Given the description of an element on the screen output the (x, y) to click on. 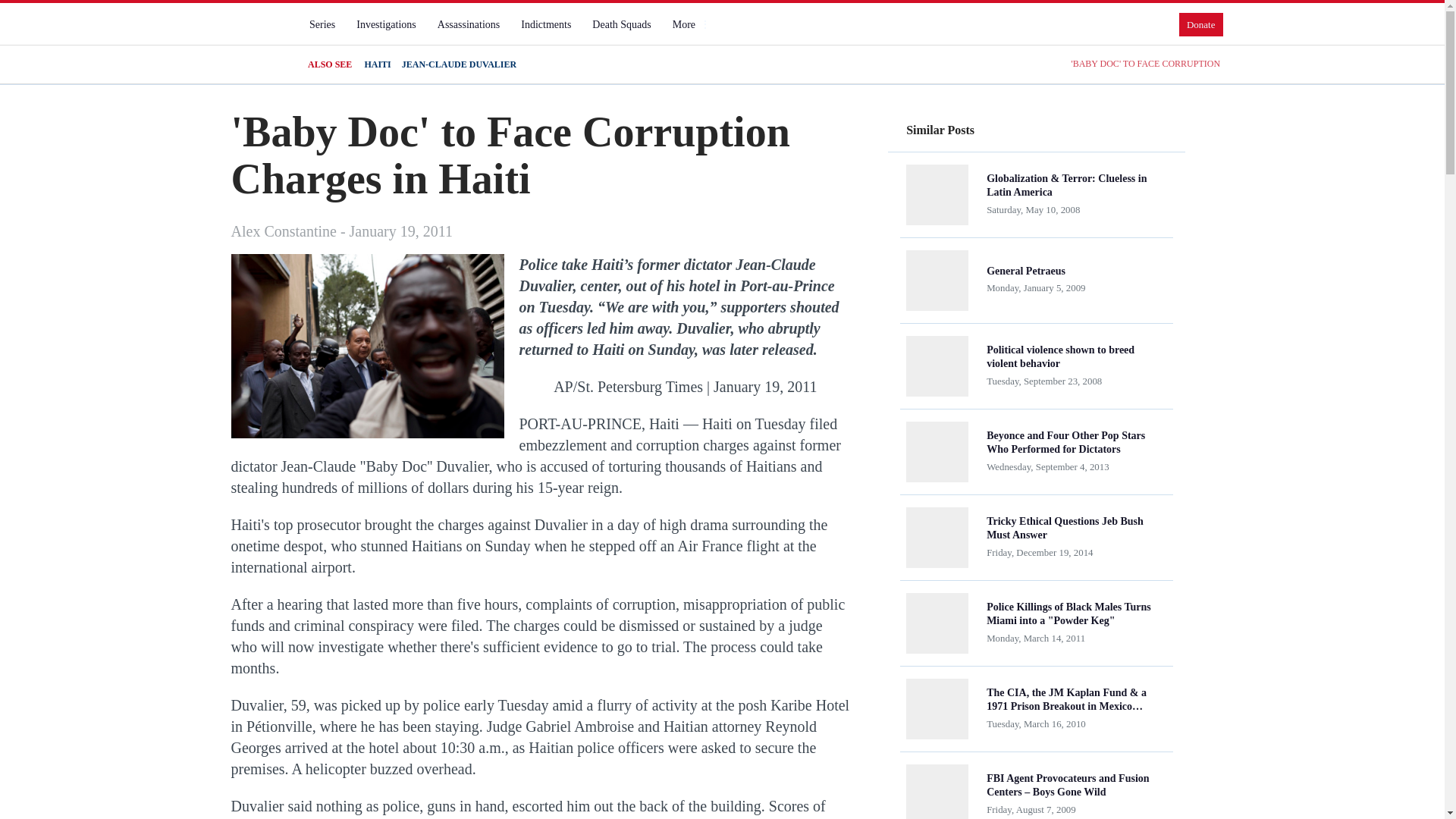
Series (321, 23)
Constantine Report (257, 37)
JEAN-CLAUDE DUVALIER (458, 64)
More (690, 24)
Indictments (545, 23)
Investigations (386, 23)
Assassinations (467, 23)
Donate (1201, 24)
Death Squads (621, 23)
